Given the description of an element on the screen output the (x, y) to click on. 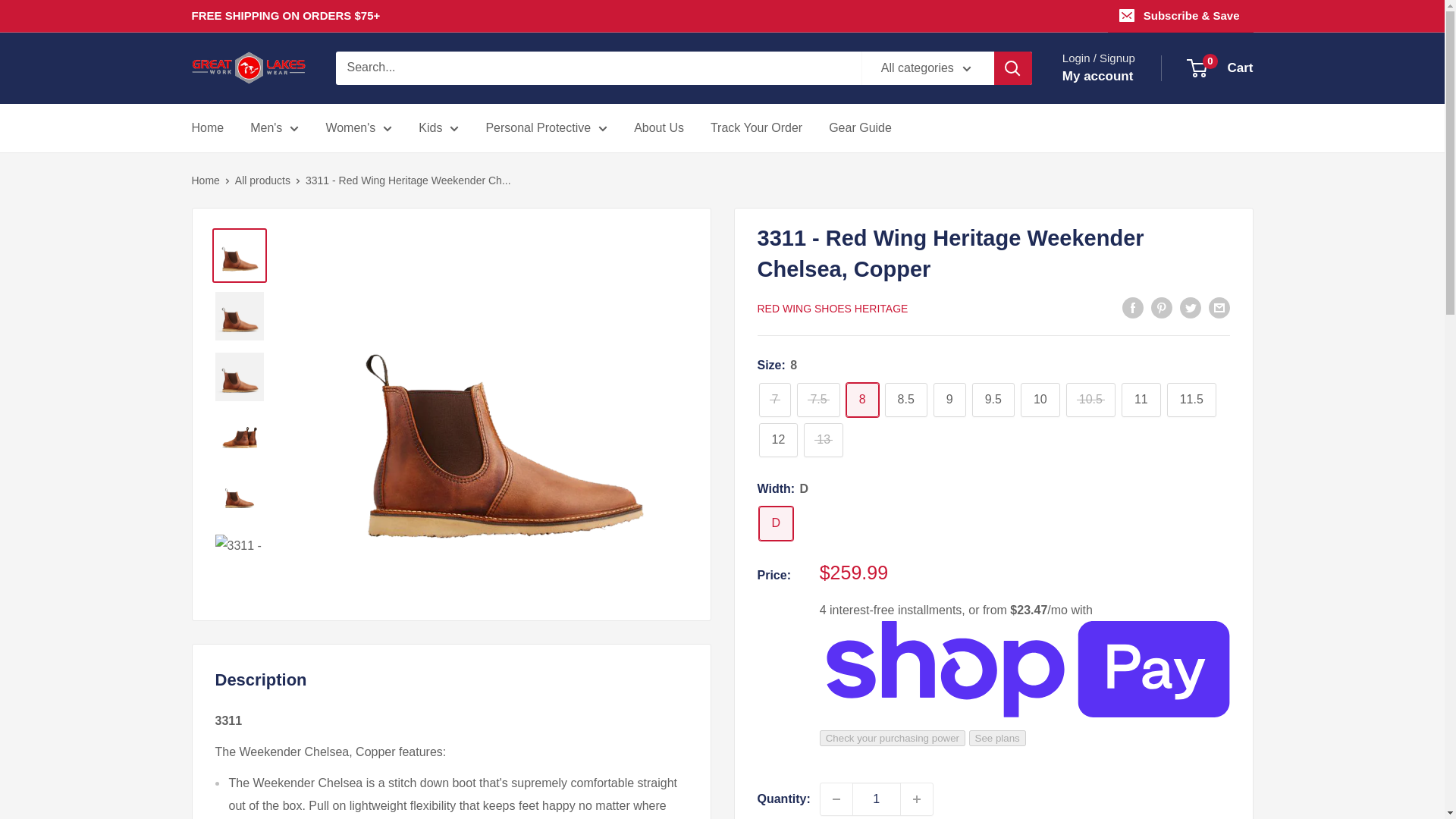
7.5 (818, 399)
9 (949, 399)
10.5 (1090, 399)
D (775, 523)
9.5 (993, 399)
12 (777, 440)
Increase quantity by 1 (917, 798)
8.5 (906, 399)
10 (1039, 399)
1 (876, 798)
